Given the description of an element on the screen output the (x, y) to click on. 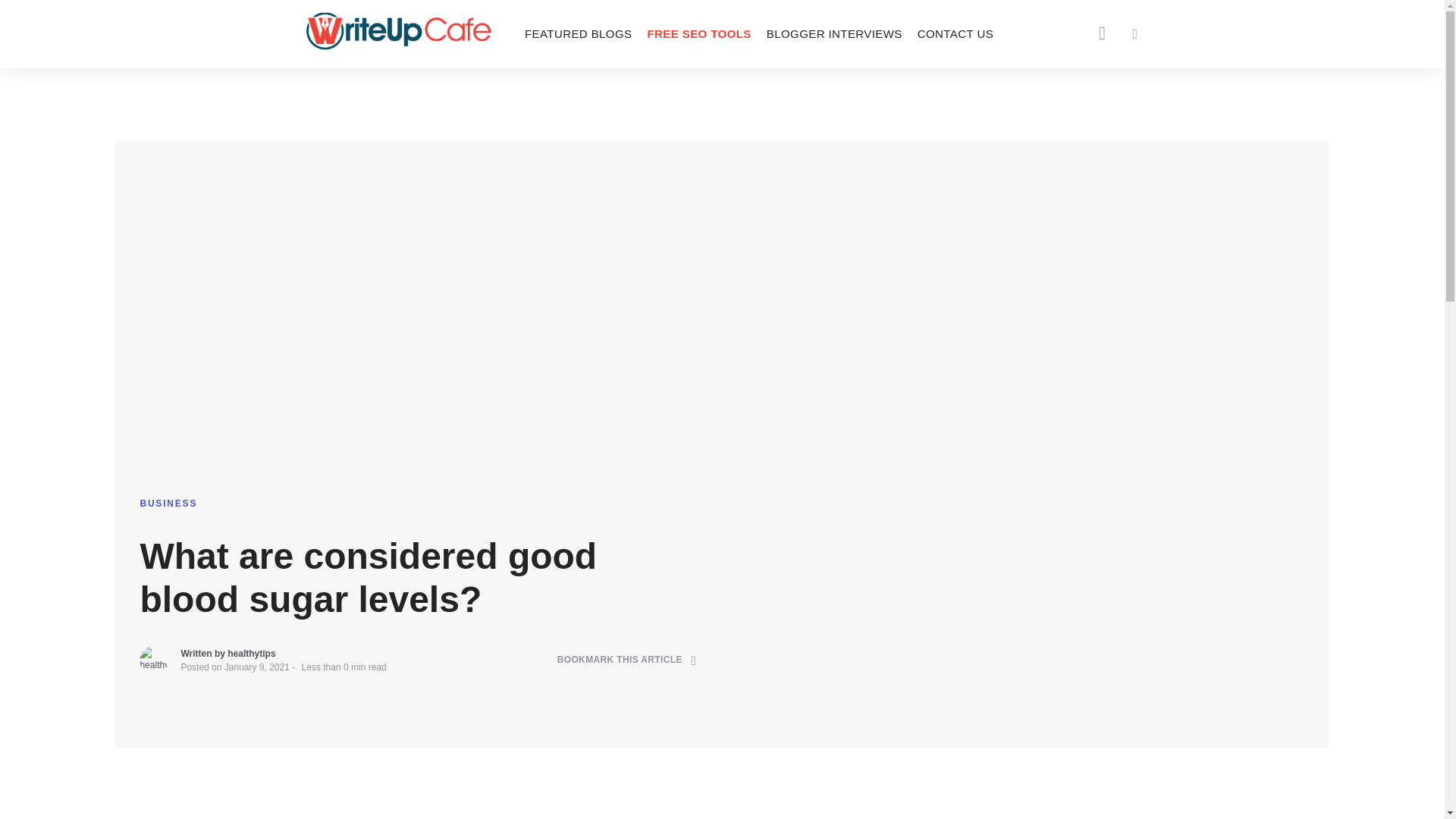
FREE SEO TOOLS (698, 33)
BOOKMARK THIS ARTICLE (627, 660)
CONTACT US (955, 33)
January 9, 2021 (256, 666)
FEATURED BLOGS (577, 33)
FEATURED BLOGS (577, 33)
CONTACT US (955, 33)
BUSINESS (167, 502)
BLOGGER INTERVIEWS (834, 33)
FREE SEO TOOLS (698, 33)
